Given the description of an element on the screen output the (x, y) to click on. 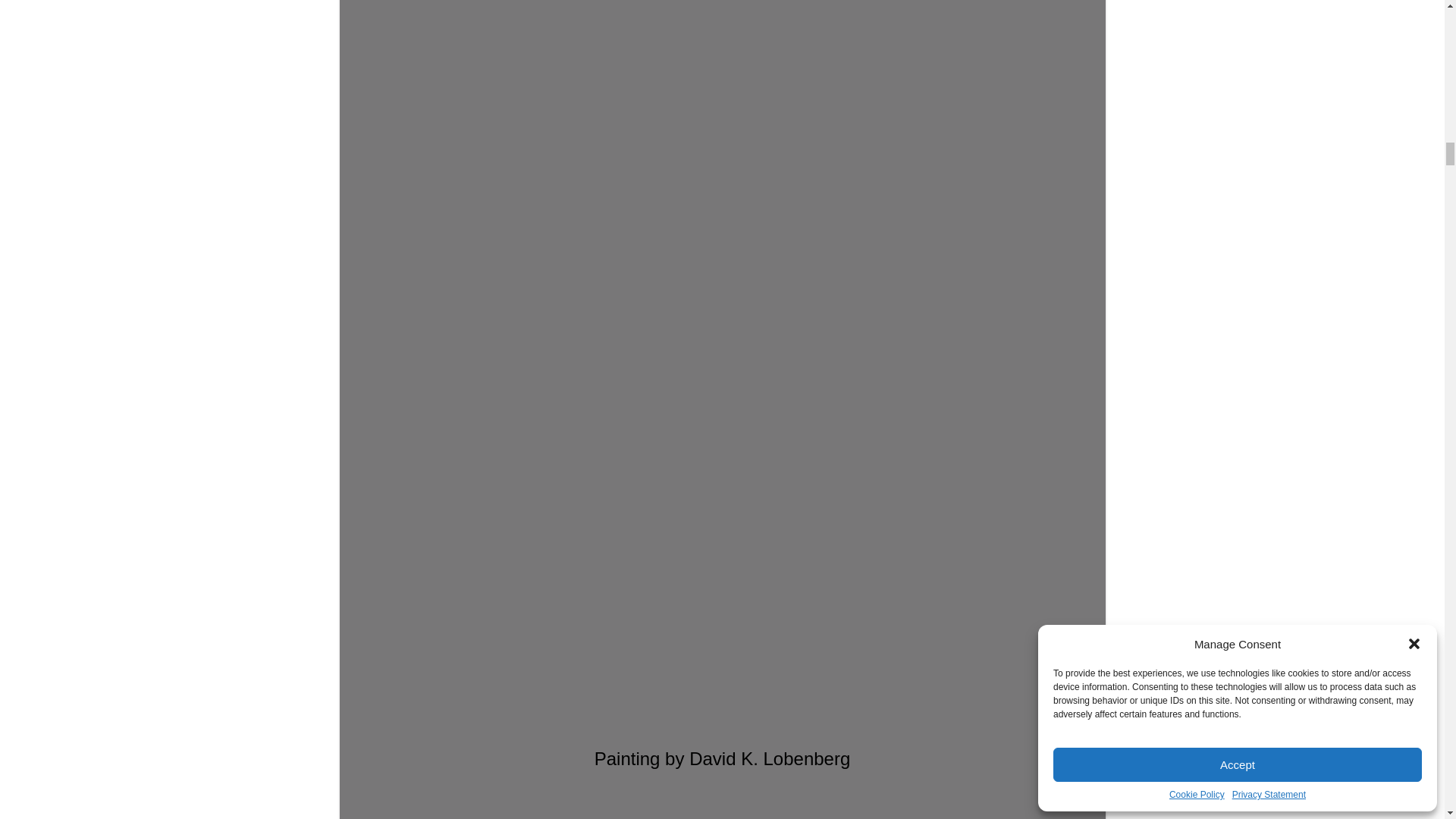
Painting by David K. Lobenberg (722, 346)
